Given the description of an element on the screen output the (x, y) to click on. 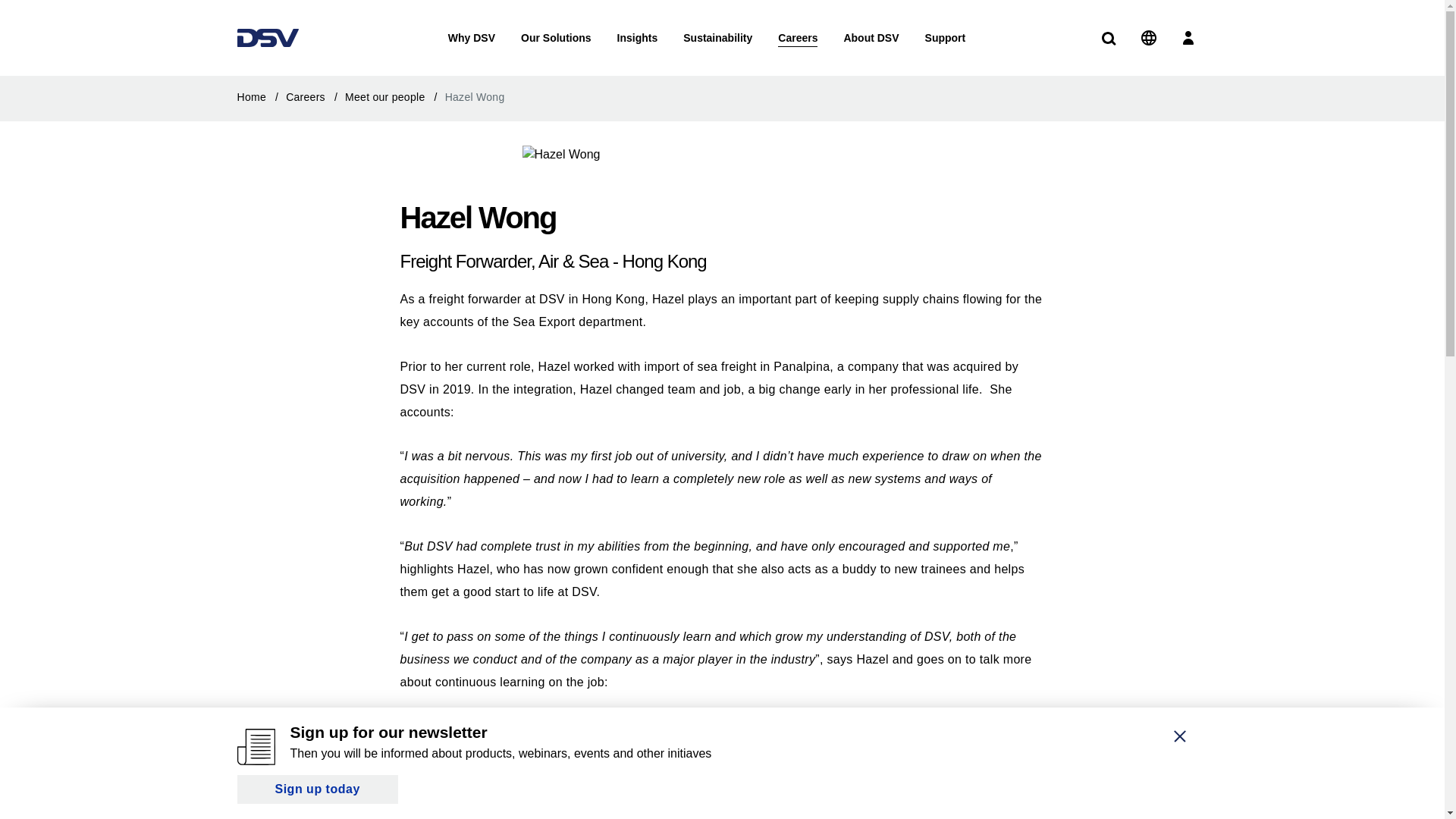
Home (259, 97)
Why DSV (471, 38)
Careers (314, 97)
Sustainability (717, 38)
Meet our people (394, 97)
Our Solutions (556, 38)
